Given the description of an element on the screen output the (x, y) to click on. 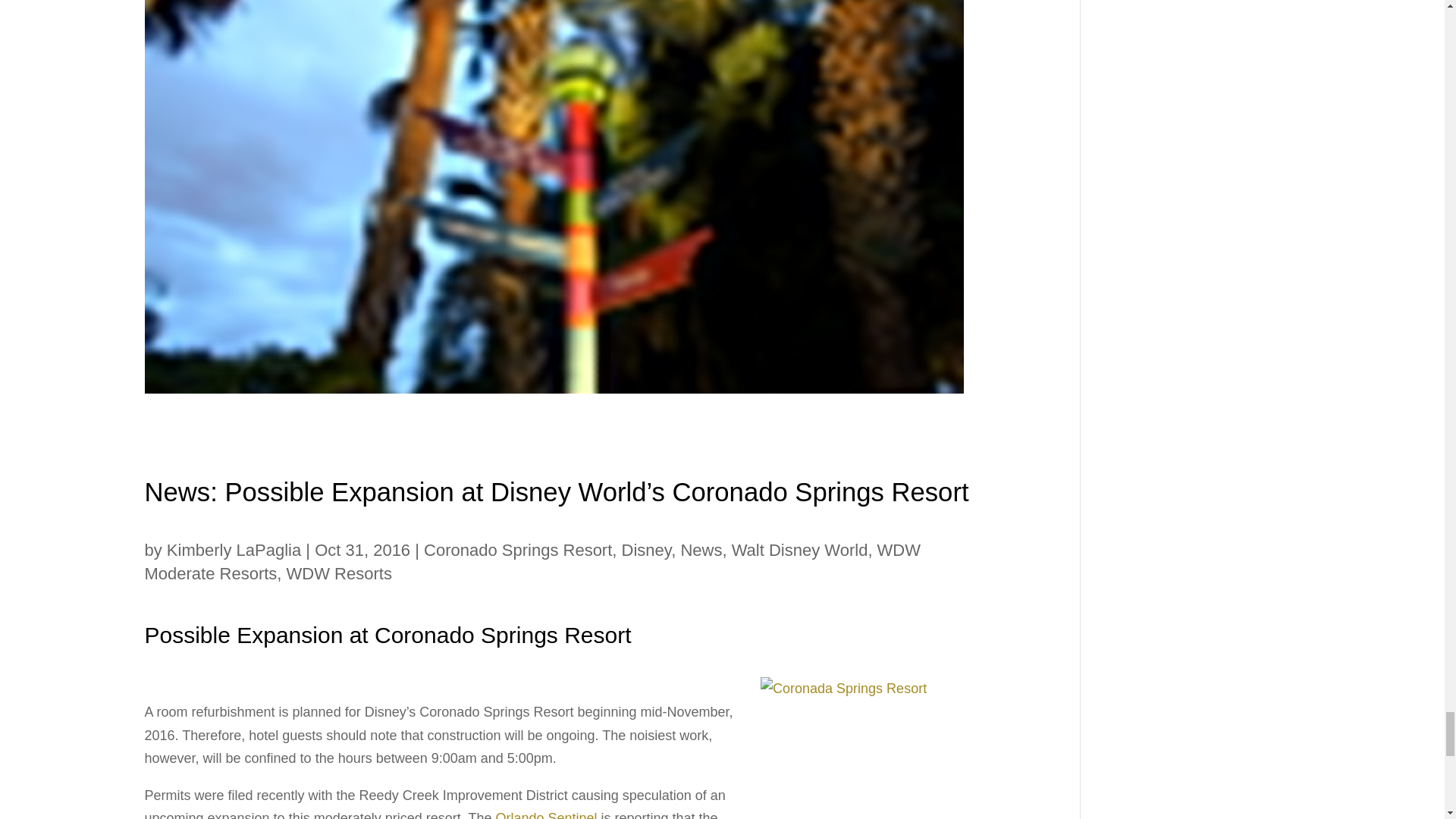
Posts by Kimberly LaPaglia (234, 549)
